Given the description of an element on the screen output the (x, y) to click on. 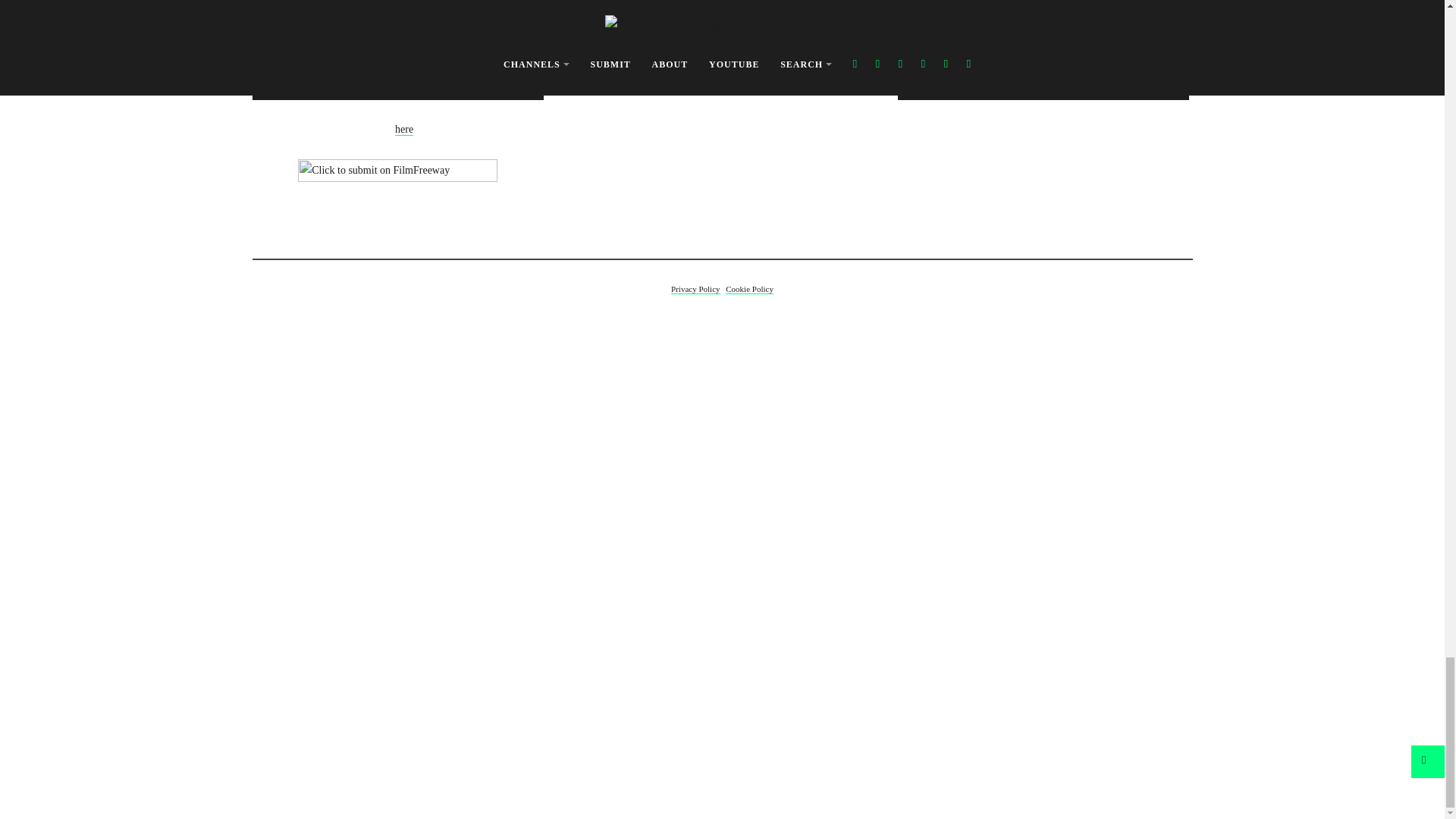
Post Comment (326, 9)
Click to submit on FilmFreeway (397, 177)
Directors Notes on YouTube (724, 162)
Click to submit on FilmFreeway (397, 177)
